Given the description of an element on the screen output the (x, y) to click on. 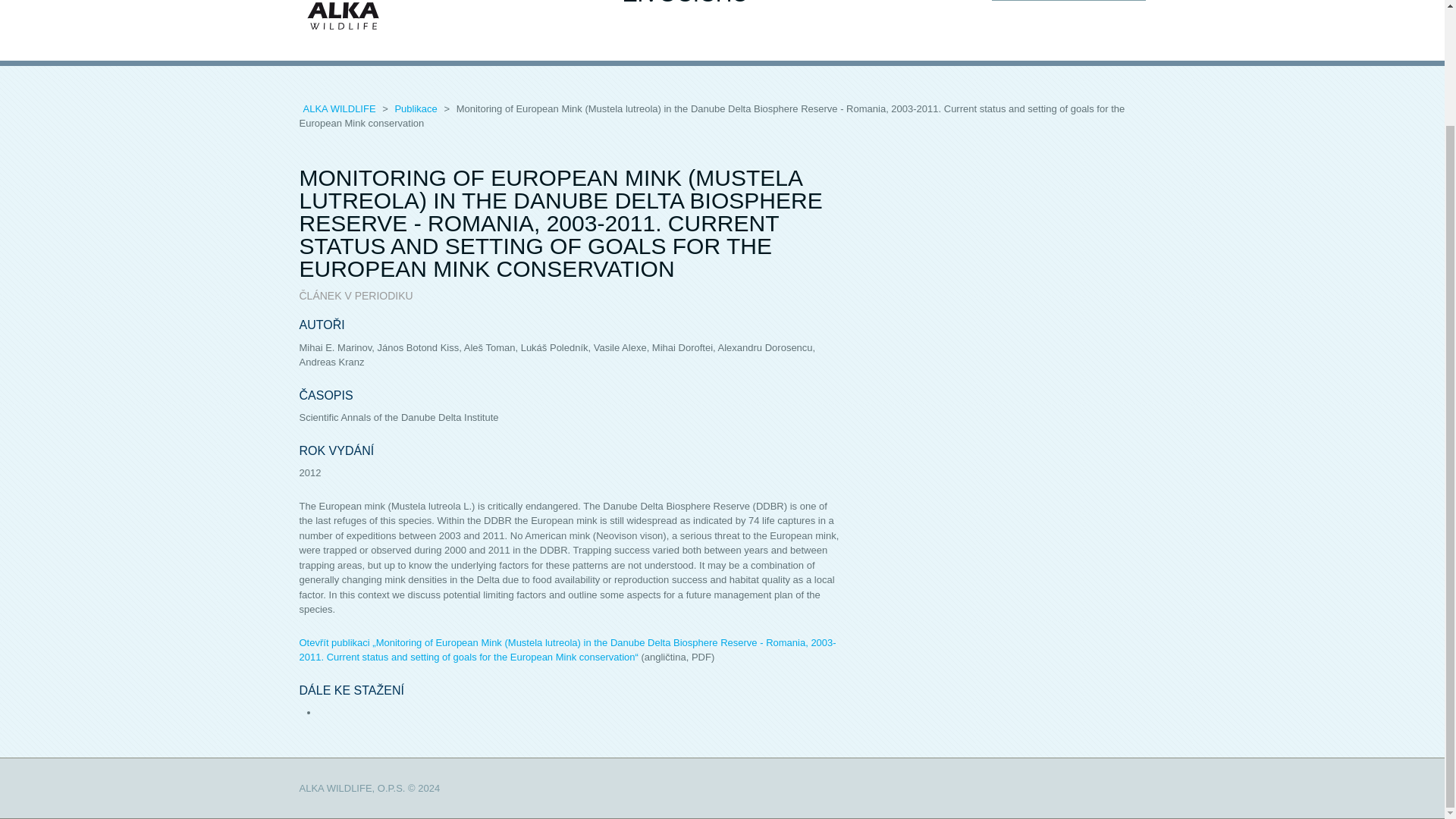
ALKA WILDLIFE (339, 108)
Publikace (417, 108)
